Given the description of an element on the screen output the (x, y) to click on. 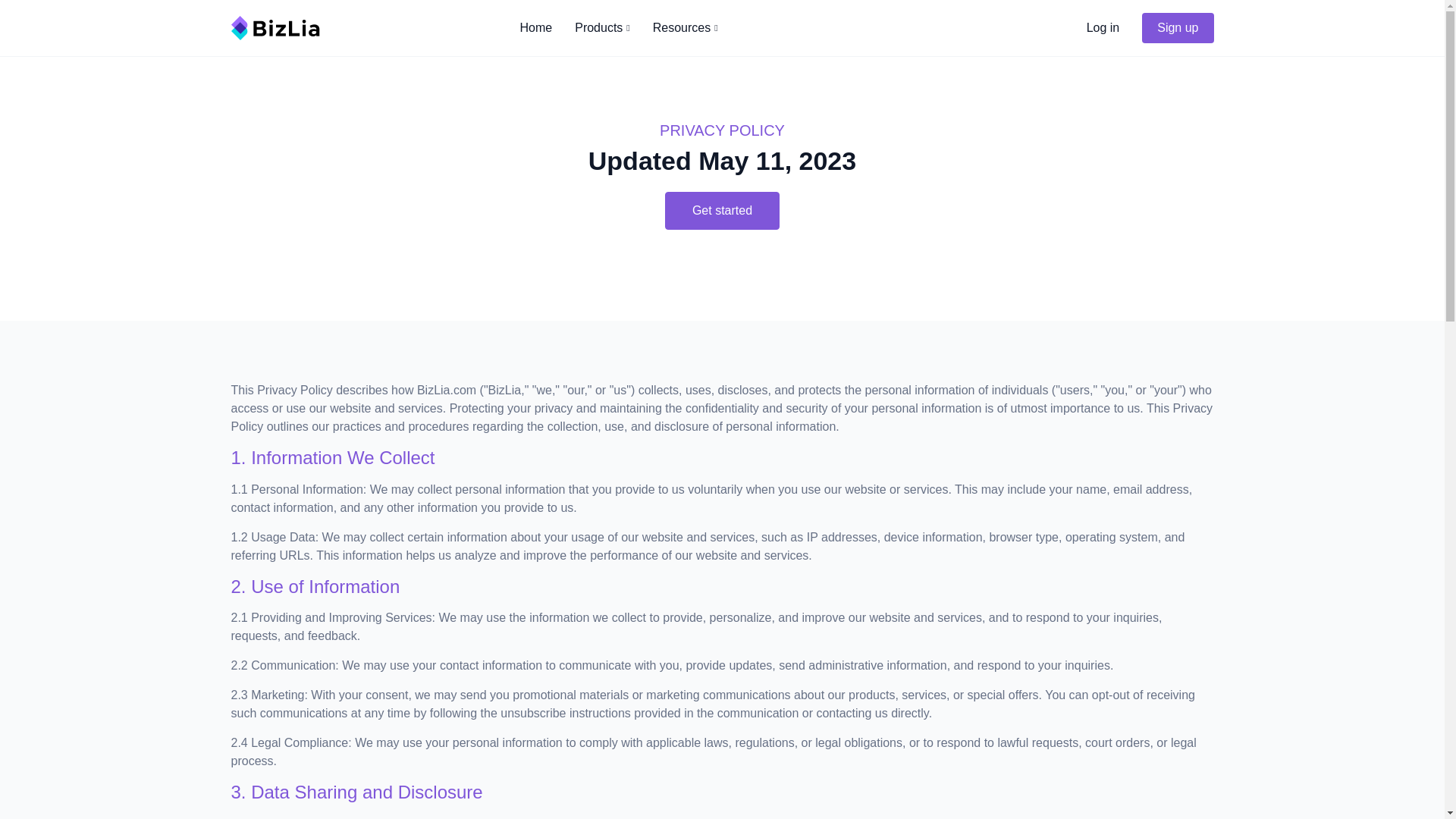
Log in (1091, 28)
Get started (721, 210)
Home (525, 28)
Resources (673, 28)
Products (590, 28)
Sign up (1176, 28)
